Given the description of an element on the screen output the (x, y) to click on. 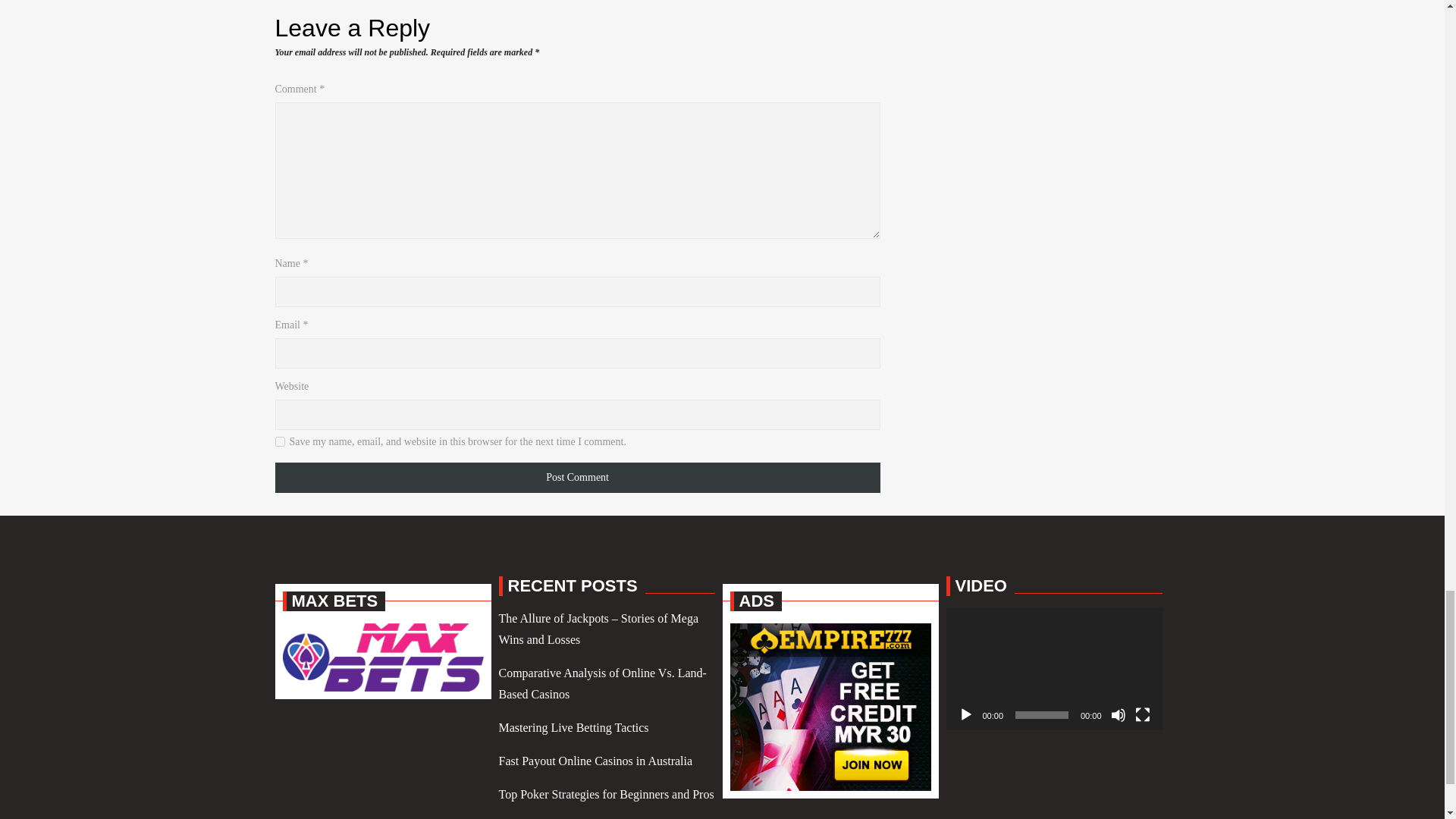
Play (966, 714)
Fullscreen (1142, 714)
yes (279, 441)
Post Comment (577, 477)
Mute (1117, 714)
Post Comment (577, 477)
